Given the description of an element on the screen output the (x, y) to click on. 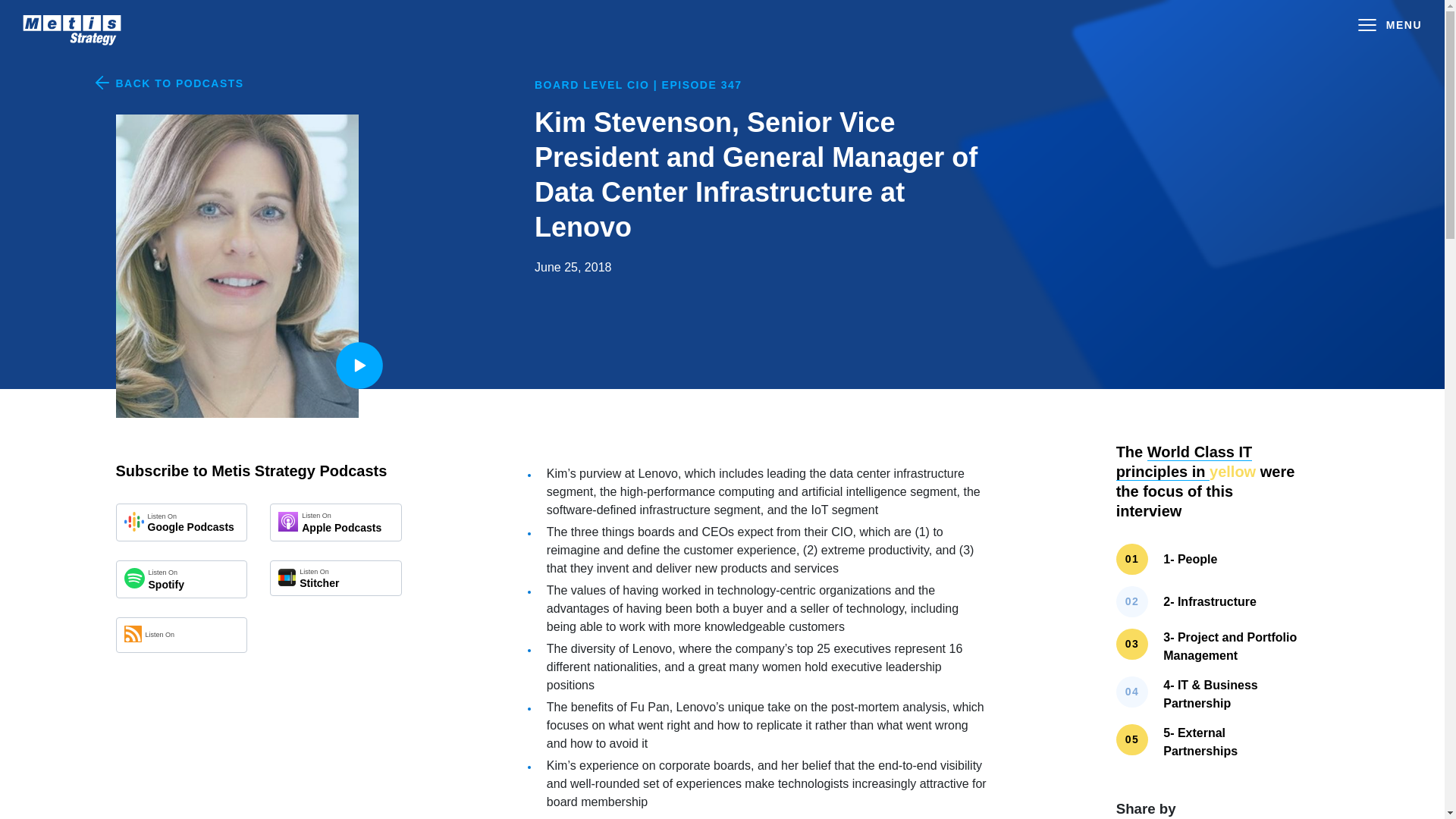
Listen On (181, 634)
BACK TO PODCASTS (335, 522)
